Given the description of an element on the screen output the (x, y) to click on. 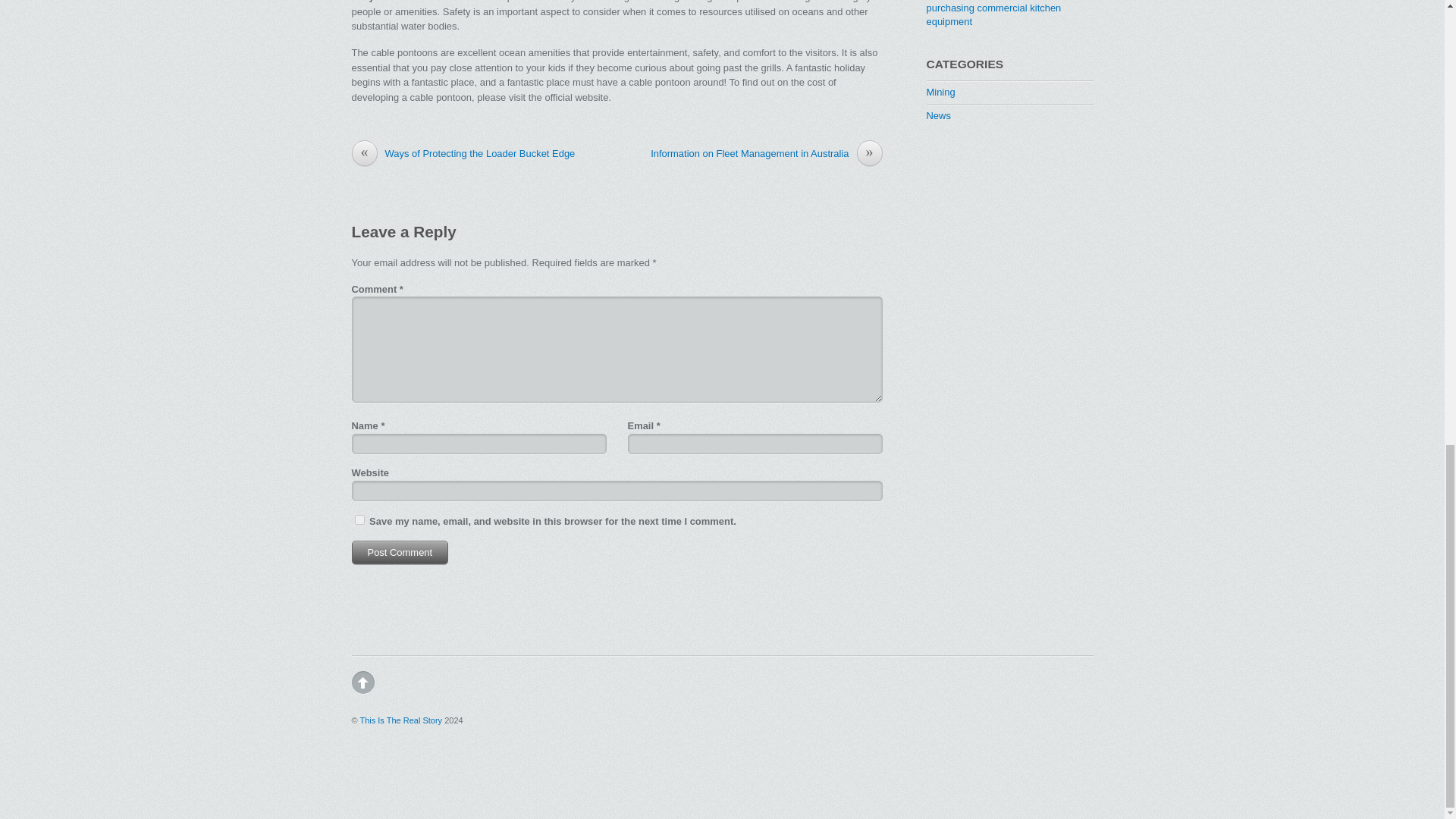
Post Comment (400, 552)
This Is The Real Story (400, 719)
News (938, 115)
Mining (940, 91)
Post Comment (400, 552)
yes (360, 519)
